Given the description of an element on the screen output the (x, y) to click on. 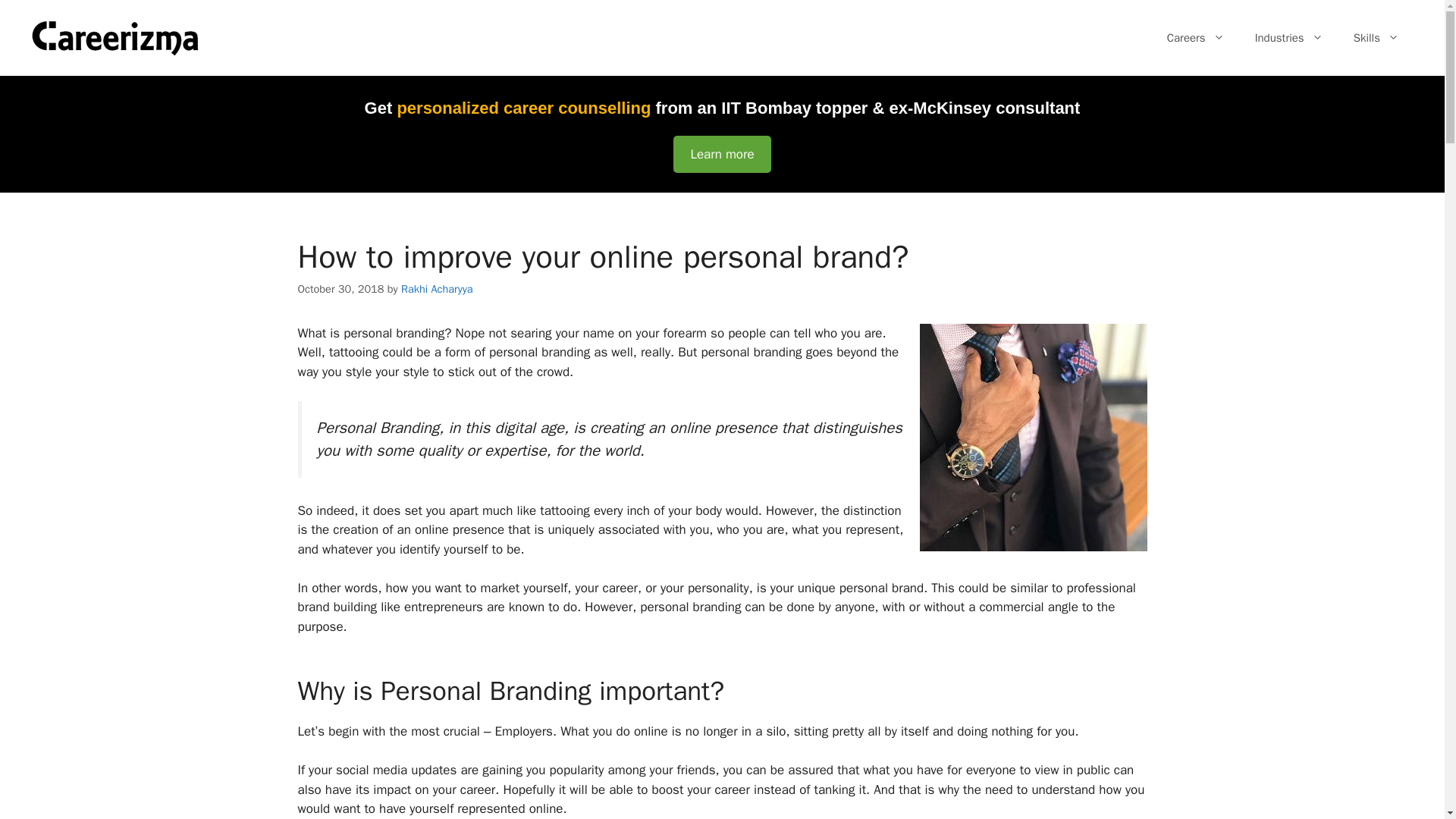
View all posts by Rakhi Acharyya (437, 288)
Skills (1375, 37)
Careers (1195, 37)
Industries (1289, 37)
